Given the description of an element on the screen output the (x, y) to click on. 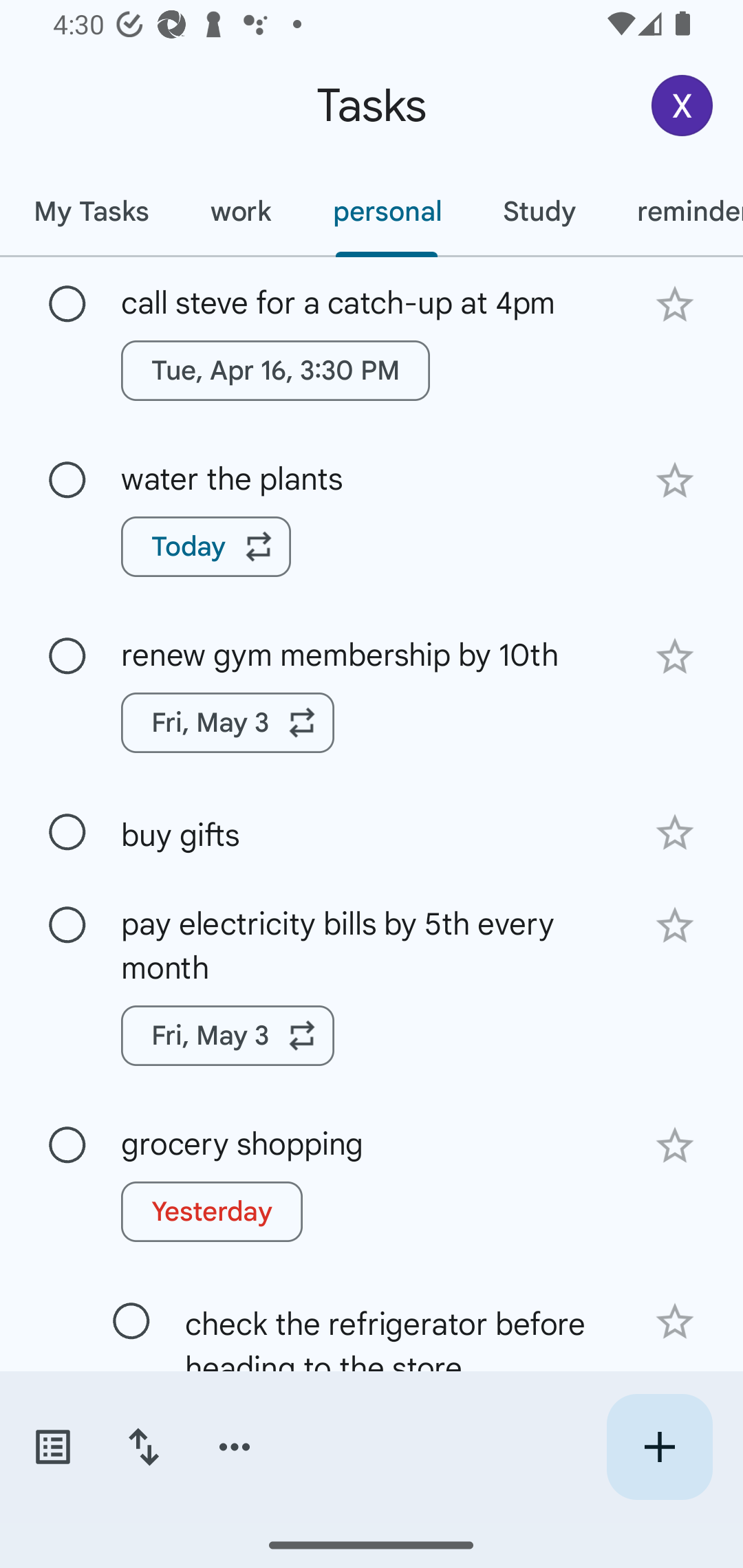
My Tasks (90, 211)
work (240, 211)
Study (538, 211)
reminders (674, 211)
Add star (674, 303)
Mark as complete (67, 304)
Tue, Apr 16, 3:30 PM (275, 369)
Add star (674, 480)
Mark as complete (67, 480)
Today (206, 546)
Add star (674, 656)
Mark as complete (67, 655)
Fri, May 3 (227, 722)
buy gifts buy gifts Add star Mark as complete (371, 831)
Add star (674, 832)
Mark as complete (67, 833)
Add star (674, 924)
Mark as complete (67, 925)
Fri, May 3 (227, 1035)
Add star (674, 1145)
Mark as complete (67, 1145)
Yesterday (211, 1211)
Add star (674, 1321)
Mark as complete (131, 1321)
Switch task lists (52, 1447)
Create new task (659, 1446)
Change sort order (143, 1446)
More options (234, 1446)
